Given the description of an element on the screen output the (x, y) to click on. 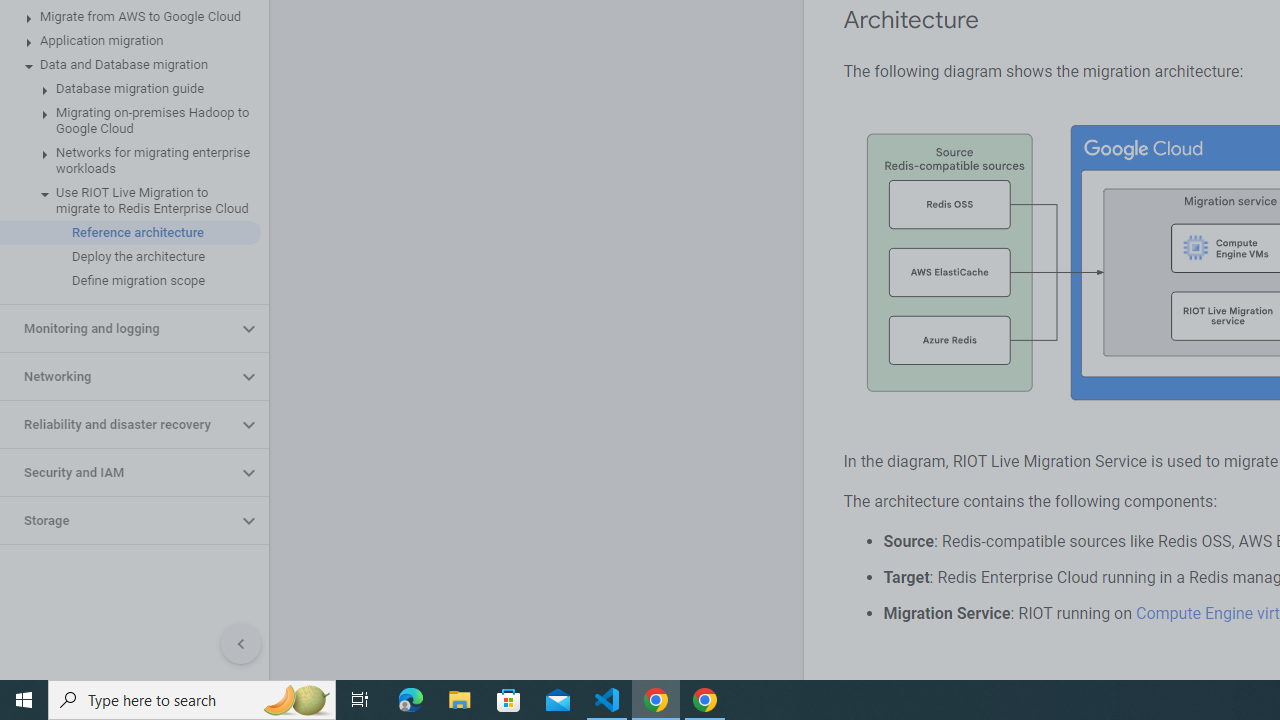
Networking (118, 376)
Monitoring and logging (118, 328)
Define migration scope (130, 281)
Database migration guide (130, 88)
Reliability and disaster recovery (118, 425)
Reference architecture (130, 232)
Migrate from AWS to Google Cloud (130, 16)
Security and IAM (118, 472)
Migrating on-premises Hadoop to Google Cloud (130, 120)
Deploy the architecture (130, 256)
Data and Database migration (130, 65)
Hide side navigation (241, 643)
Application migration (130, 40)
Storage (118, 520)
Networks for migrating enterprise workloads (130, 160)
